Given the description of an element on the screen output the (x, y) to click on. 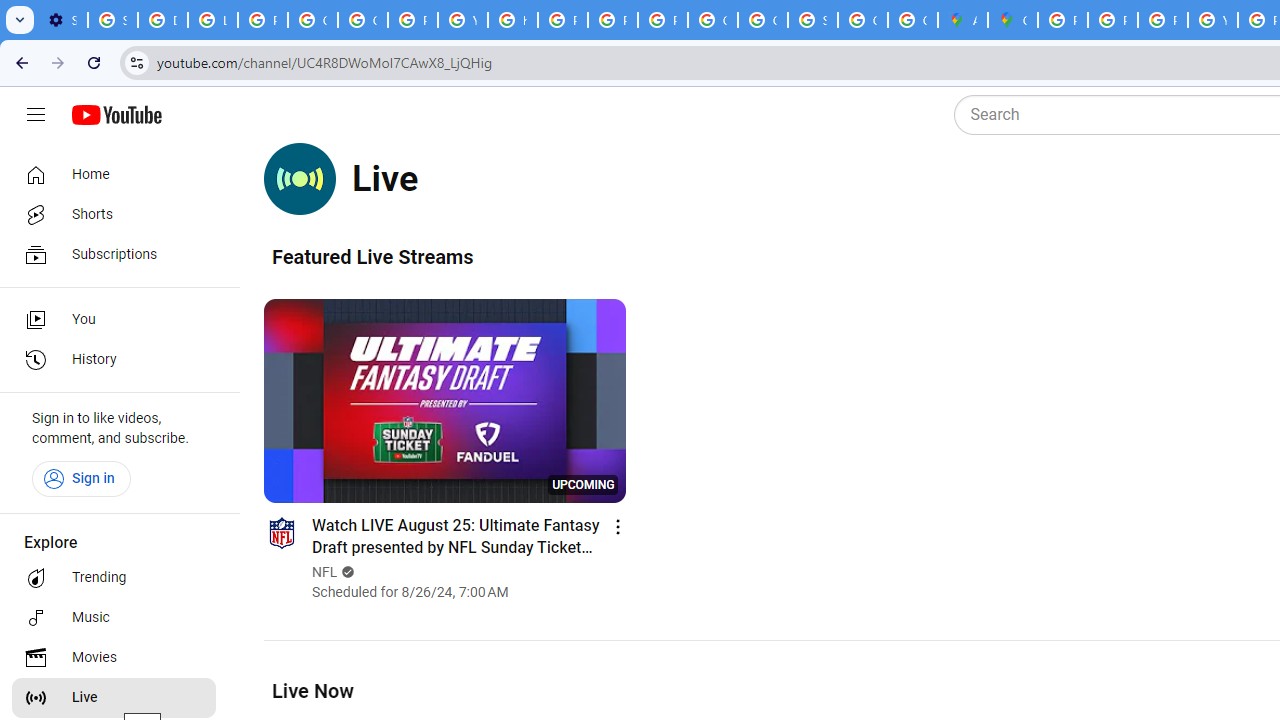
Delete photos & videos - Computer - Google Photos Help (163, 20)
Music (113, 617)
Google Account Help (312, 20)
Featured Live Streams (372, 256)
Go to channel (281, 532)
Movies (113, 657)
Policy Accountability and Transparency - Transparency Center (1062, 20)
Guide (35, 115)
